Given the description of an element on the screen output the (x, y) to click on. 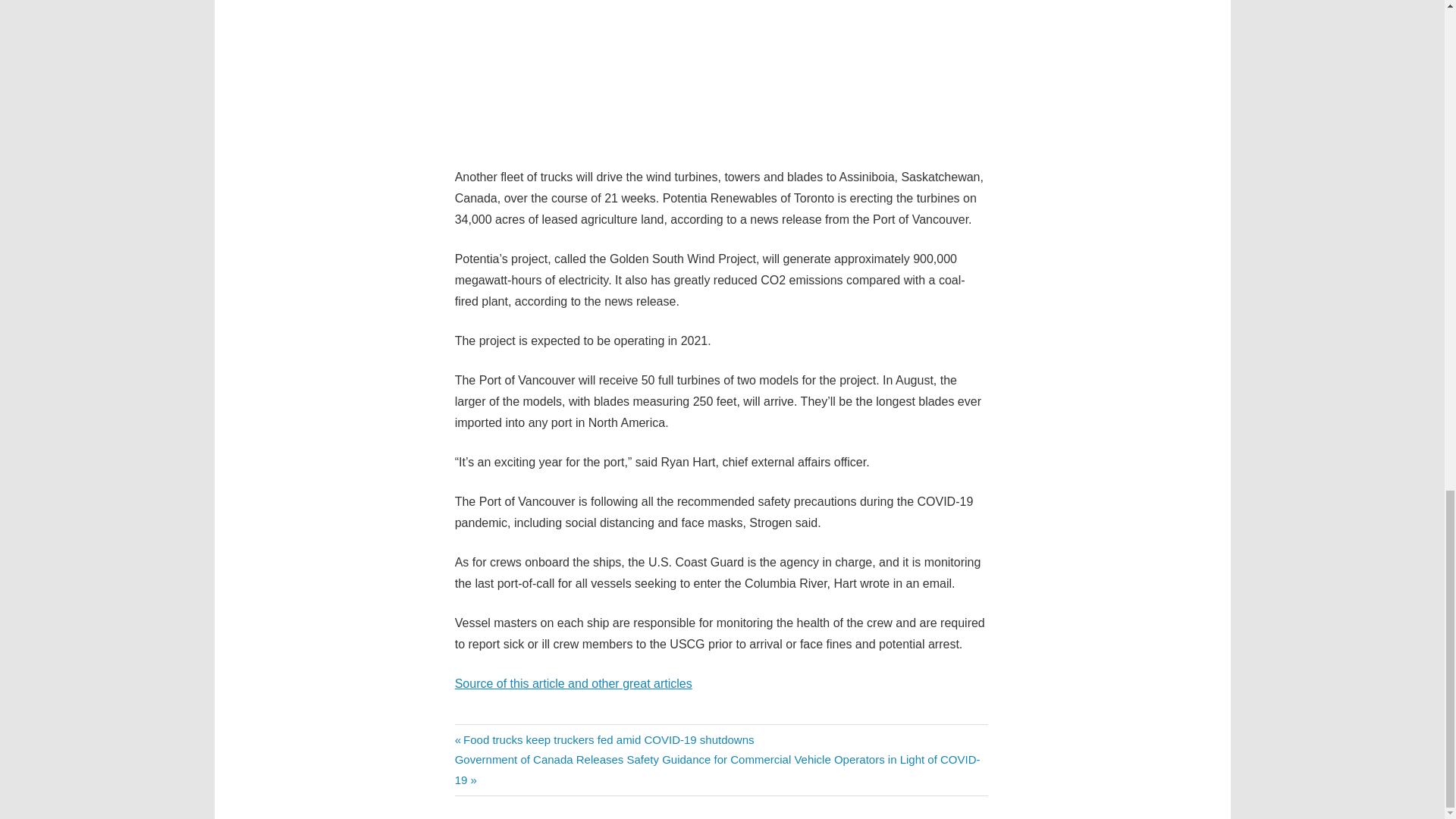
Port of Vancouver USA receives longest wind blades to date (721, 74)
Source of this article and other great articles (573, 682)
